Given the description of an element on the screen output the (x, y) to click on. 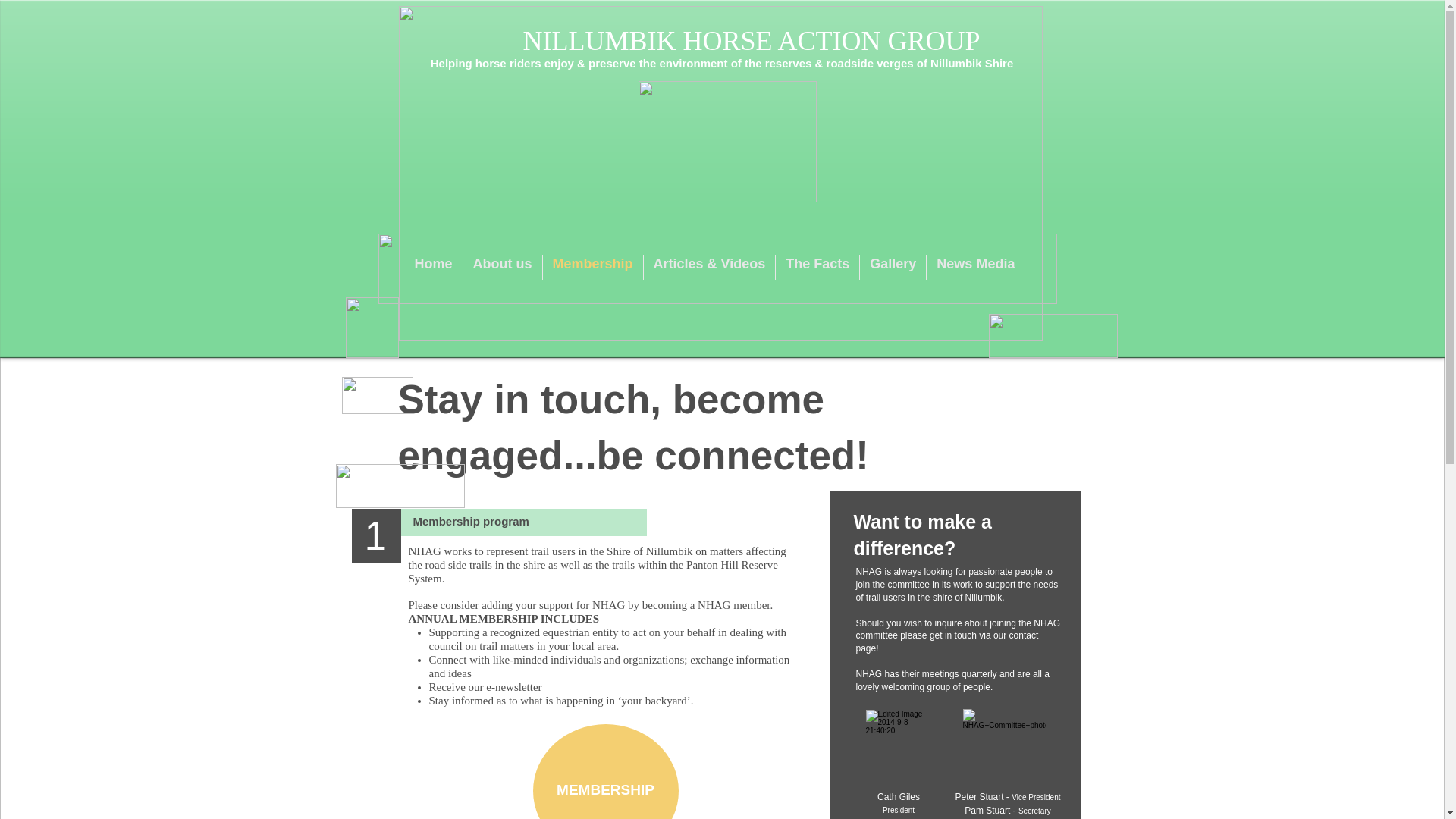
Membership Element type: text (592, 266)
Gallery Element type: text (892, 266)
Articles & Videos Element type: text (709, 266)
The Facts Element type: text (817, 266)
About us Element type: text (502, 266)
News Media Element type: text (975, 266)
Picture1.jpg Element type: hover (720, 173)
NILLUMBIK HORSE ACTION GROUP Element type: text (751, 40)
Home Element type: text (433, 266)
